Given the description of an element on the screen output the (x, y) to click on. 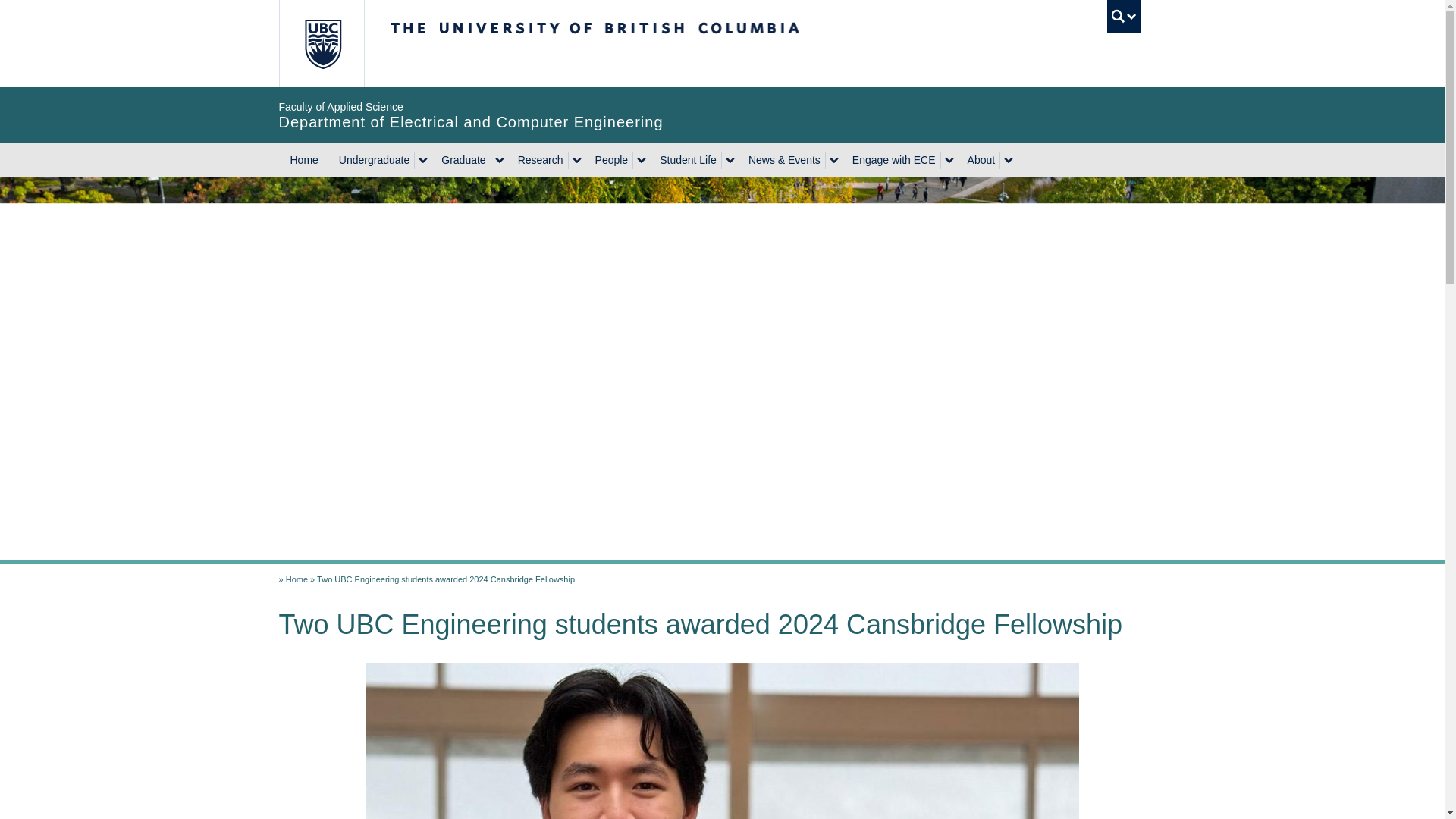
Home (304, 160)
UBC Search (1123, 16)
Undergraduate (372, 160)
The University of British Columbia (644, 43)
Research (538, 160)
Department of Electrical and Computer Engineering (471, 115)
People (609, 160)
Graduate (461, 160)
Department of Electrical and Computer Engineering (296, 578)
The University of British Columbia (322, 43)
